Given the description of an element on the screen output the (x, y) to click on. 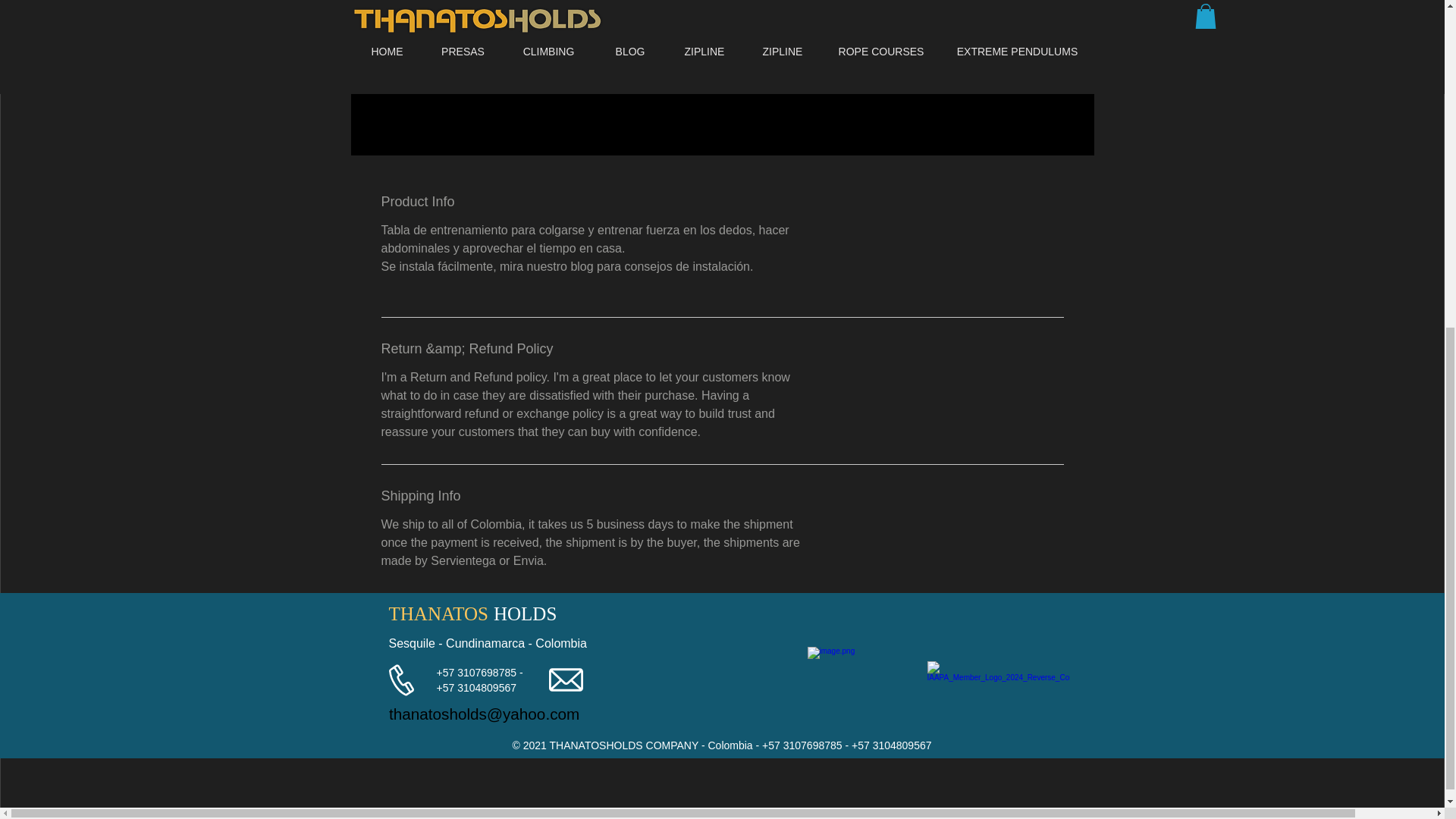
Buy Now (956, 60)
Add to Cart (933, 16)
